Given the description of an element on the screen output the (x, y) to click on. 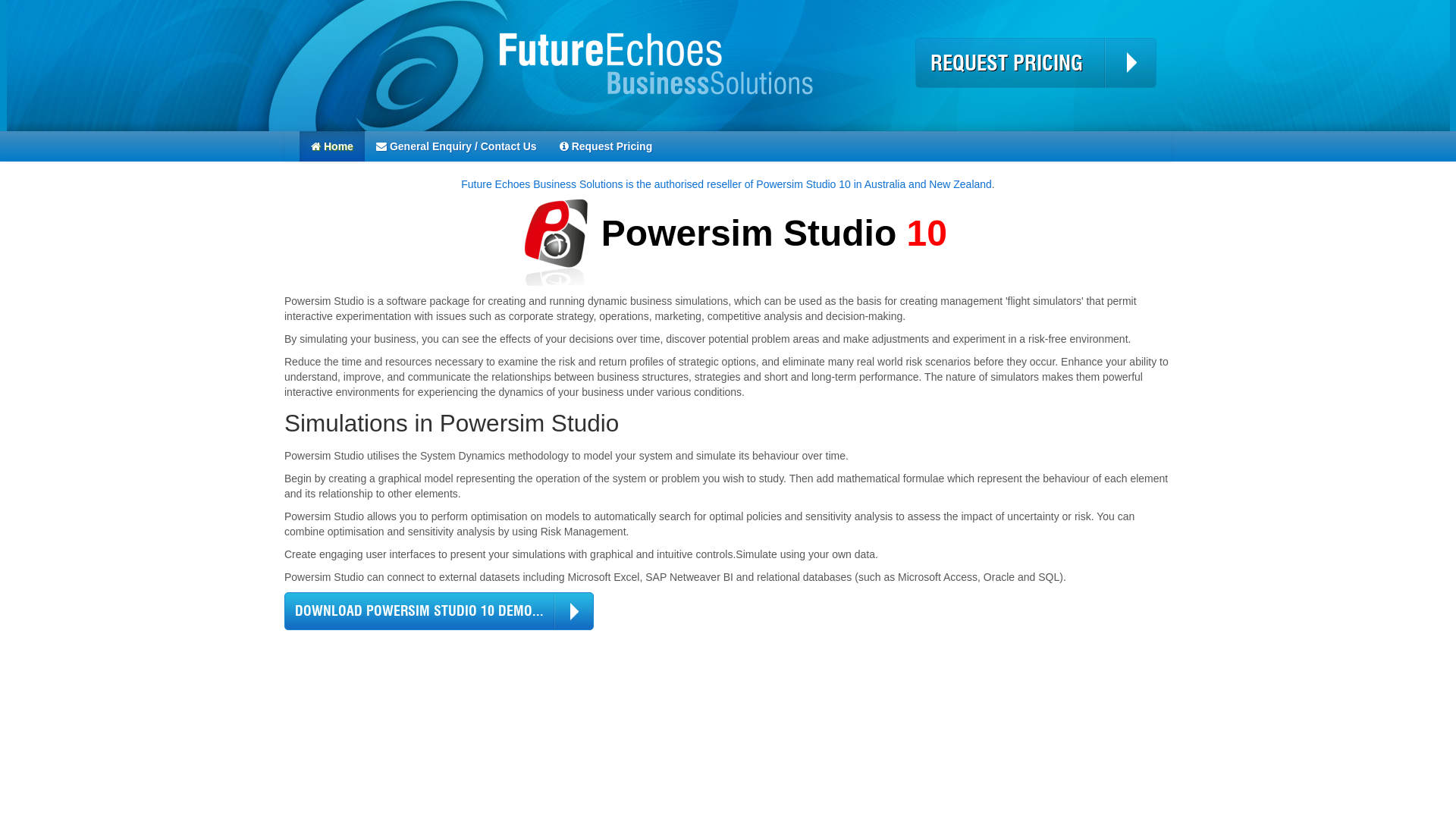
DOWNLOAD POWERSIM STUDIO 10 DEMO... Element type: text (438, 611)
REQUEST PRICING Element type: text (1035, 62)
General Enquiry / Contact Us Element type: text (456, 146)
Request Pricing Element type: text (606, 146)
Home Element type: text (331, 146)
